Given the description of an element on the screen output the (x, y) to click on. 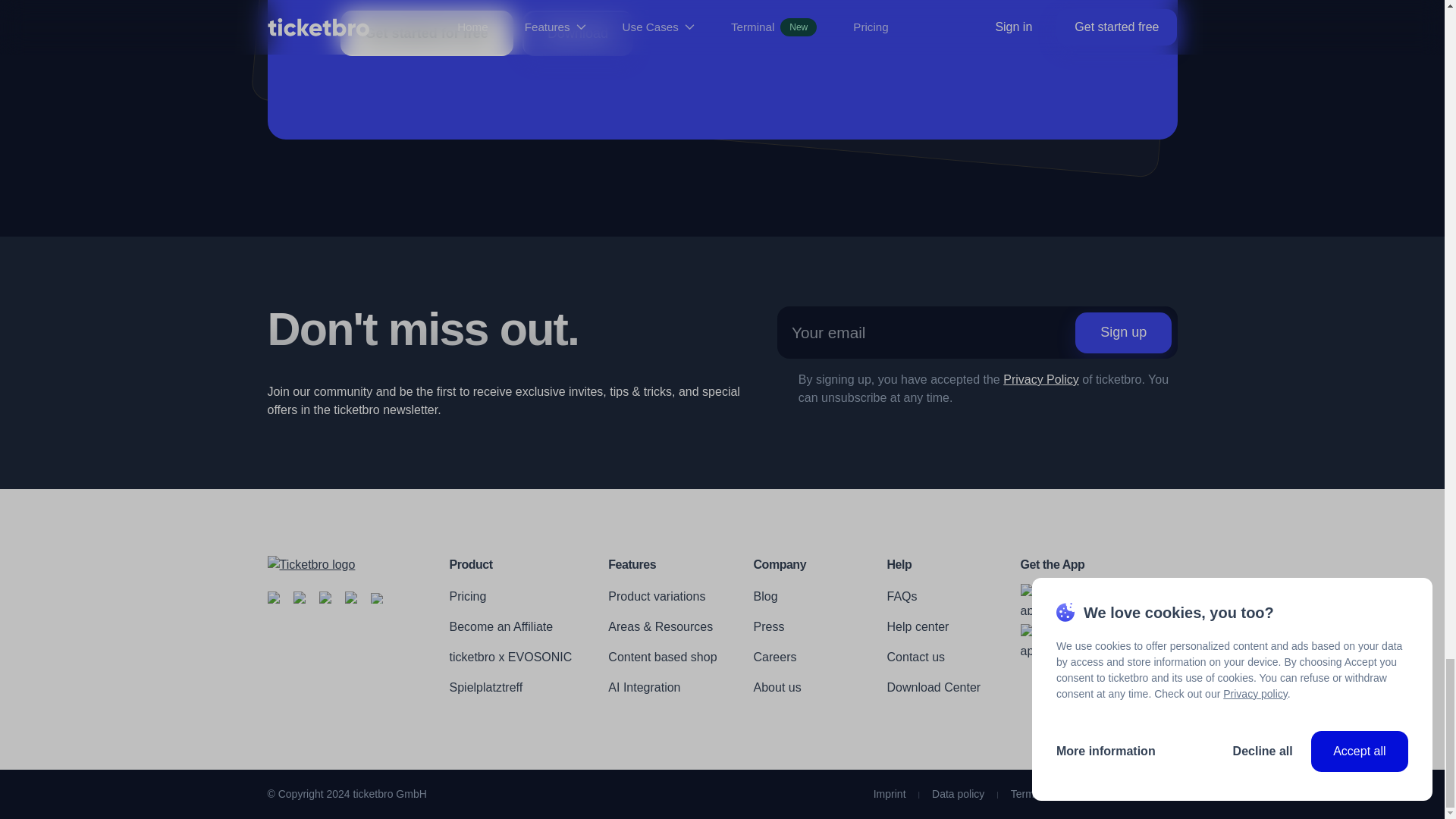
Download (577, 33)
Privacy Policy (1040, 379)
Sign up (1123, 332)
Sign up (1123, 332)
Get started for free (425, 33)
